Given the description of an element on the screen output the (x, y) to click on. 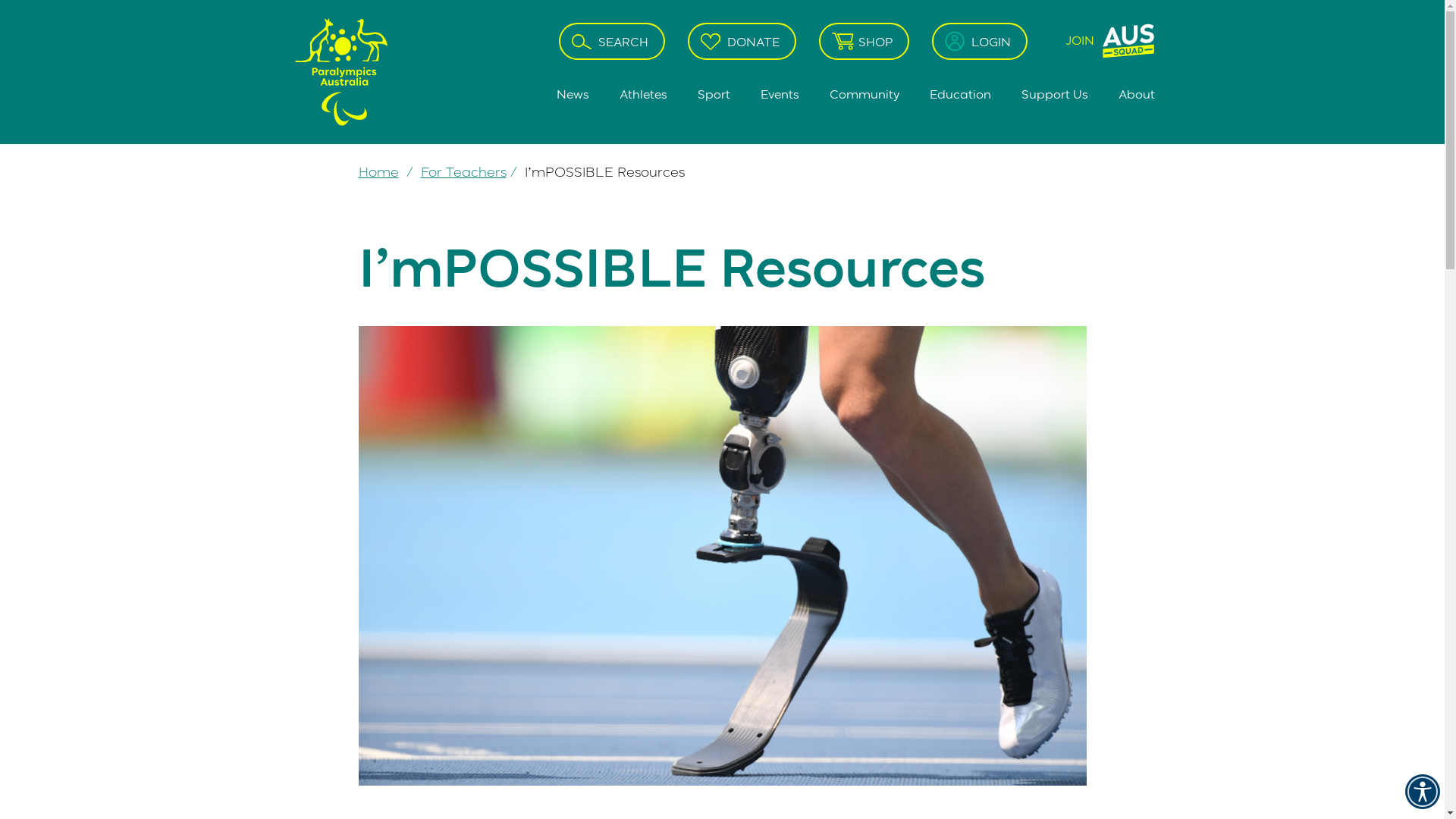
About Element type: text (1128, 93)
Go back to Home Page Element type: hover (342, 69)
LOGIN Element type: text (979, 40)
DONATE Element type: text (741, 40)
Sport Element type: text (713, 93)
SHOP Element type: text (864, 40)
SEARCH Element type: text (611, 40)
Community Element type: text (864, 93)
Athletes Element type: text (642, 93)
For Teachers Element type: text (462, 171)
Events Element type: text (778, 93)
News Element type: text (572, 93)
Support Us Element type: text (1053, 93)
JOIN Element type: text (1102, 40)
Home Element type: text (377, 171)
Education Element type: text (960, 93)
